Given the description of an element on the screen output the (x, y) to click on. 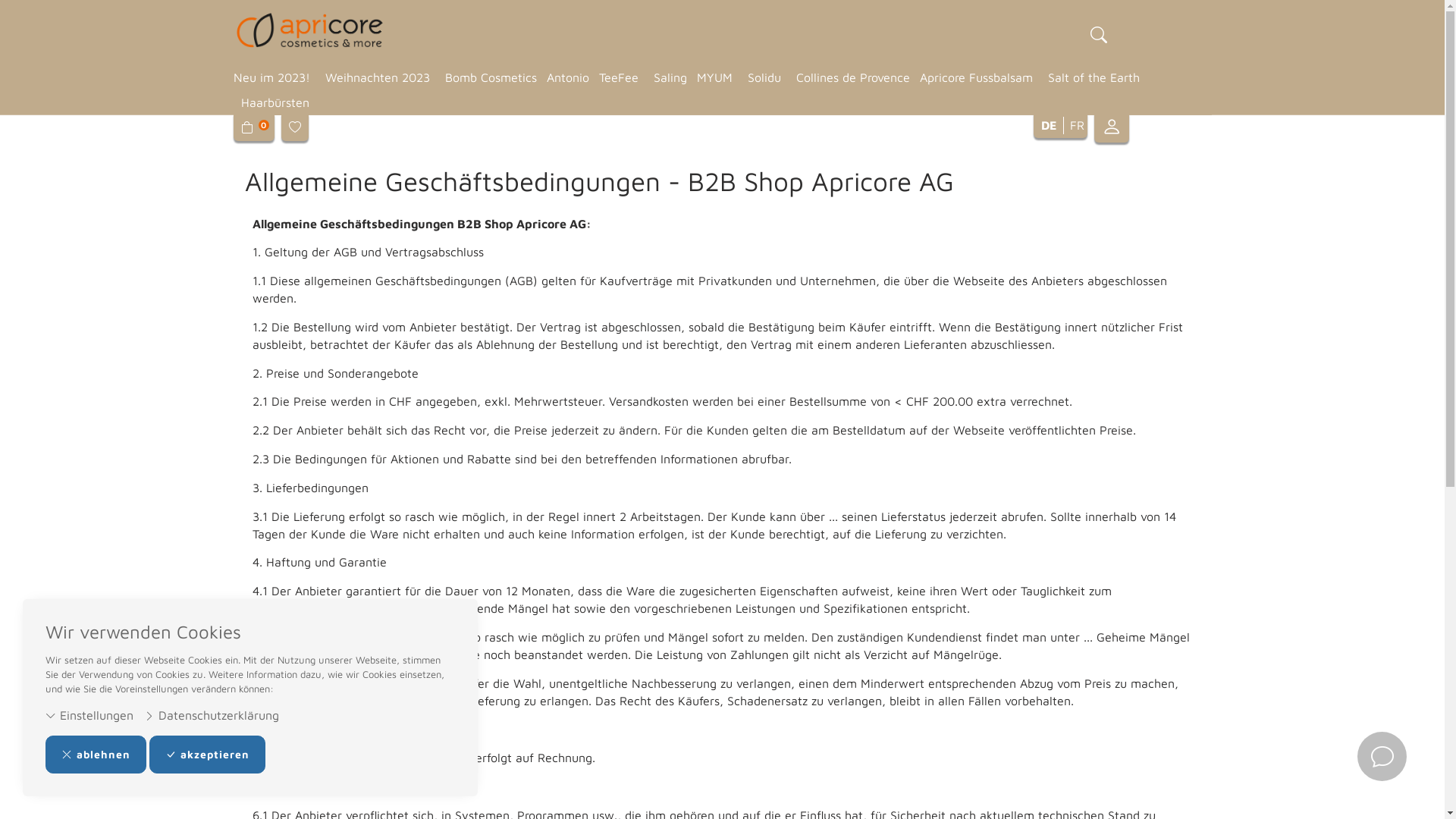
MYUM Element type: text (713, 77)
Saling Element type: text (667, 77)
Merkliste Element type: hover (294, 127)
TeeFee Element type: text (618, 77)
Salt of the Earth Element type: text (1091, 77)
FR Element type: text (1075, 125)
DE Element type: text (1049, 125)
Suche Element type: hover (1098, 36)
akzeptieren Element type: text (207, 754)
Bomb Cosmetics Element type: text (487, 77)
ablehnen Element type: text (95, 754)
Mein Konto Element type: hover (1110, 129)
Apricore Fussbalsam Element type: text (975, 77)
Collines de Provence Element type: text (850, 77)
0 Element type: text (255, 127)
Solidu Element type: text (764, 77)
Weihnachten 2023 Element type: text (376, 77)
Neu im 2023! Element type: text (275, 77)
Antonio Element type: text (564, 77)
Einstellungen Element type: text (89, 715)
